Given the description of an element on the screen output the (x, y) to click on. 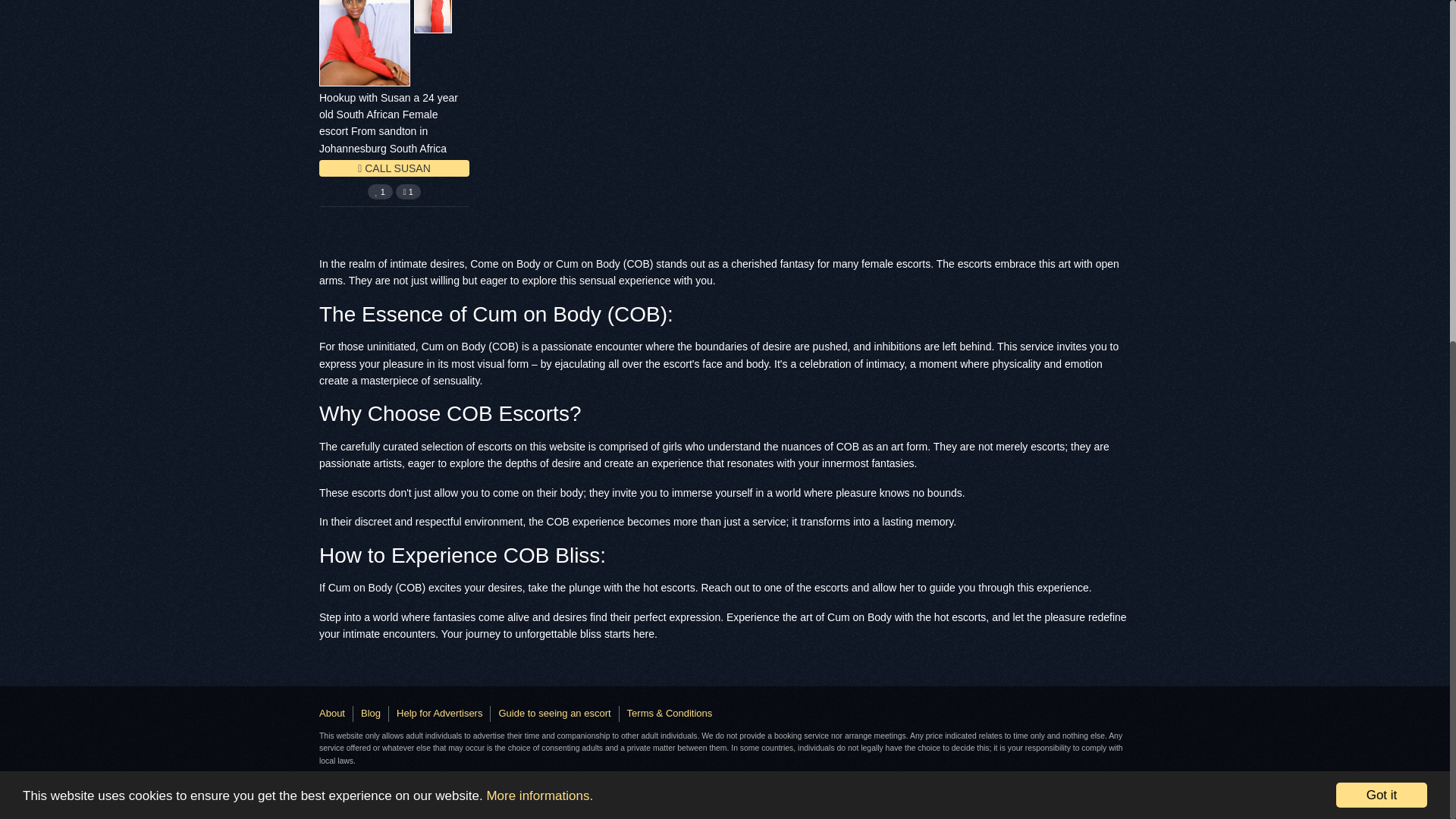
Blog (370, 713)
Guide to seeing an escort (553, 713)
CALL SUSAN (393, 167)
About (331, 713)
Help for Advertisers (438, 713)
1 questions answered. (408, 191)
1 reviews. Avg Rating: 4.00 (380, 191)
